Given the description of an element on the screen output the (x, y) to click on. 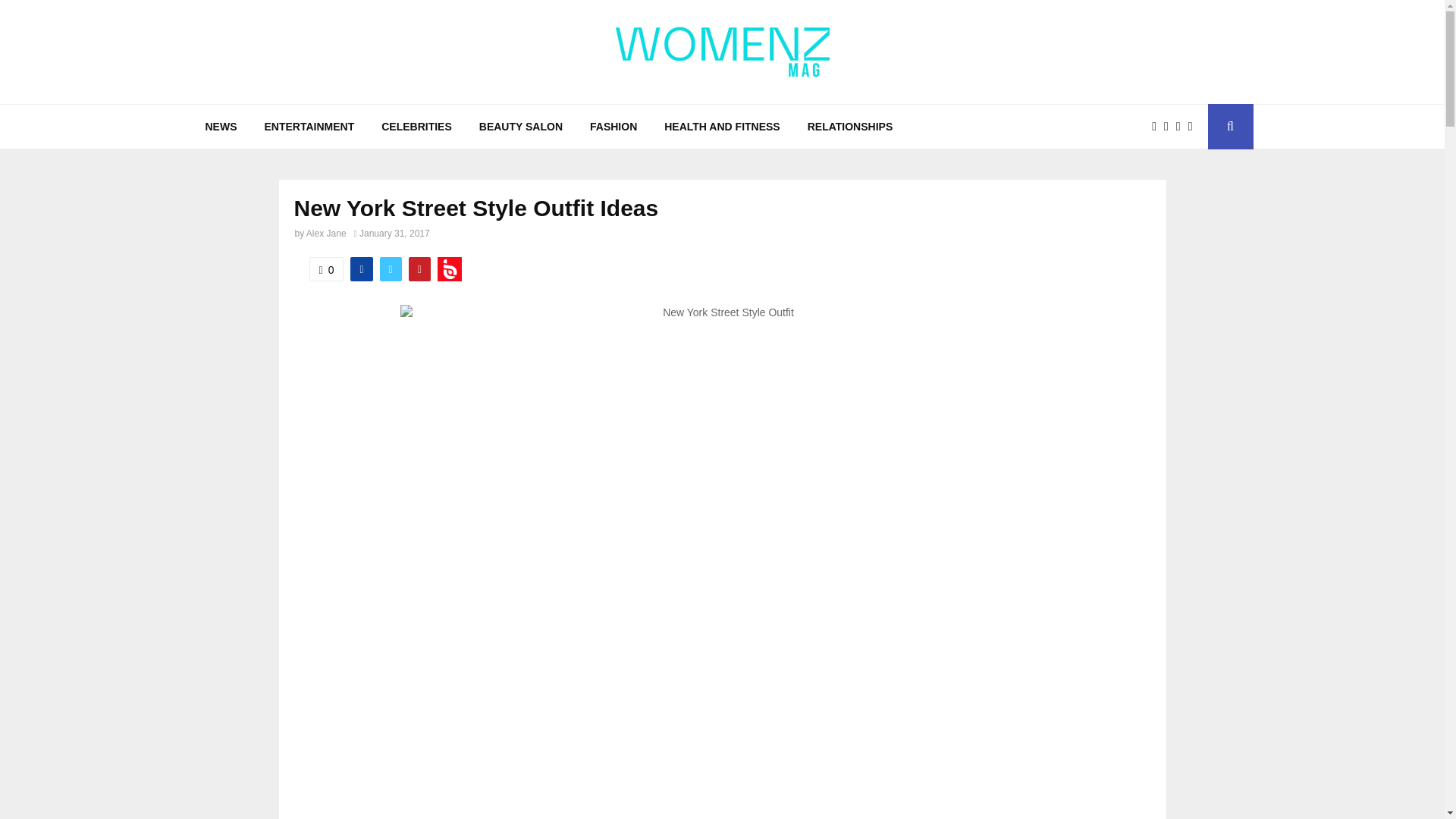
Like (325, 269)
0 (325, 269)
NEWS (220, 126)
RELATIONSHIPS (850, 126)
BEAUTY SALON (520, 126)
Alex Jane (325, 233)
Advertisement (722, 744)
FASHION (613, 126)
CELEBRITIES (416, 126)
ENTERTAINMENT (309, 126)
HEALTH AND FITNESS (721, 126)
